Given the description of an element on the screen output the (x, y) to click on. 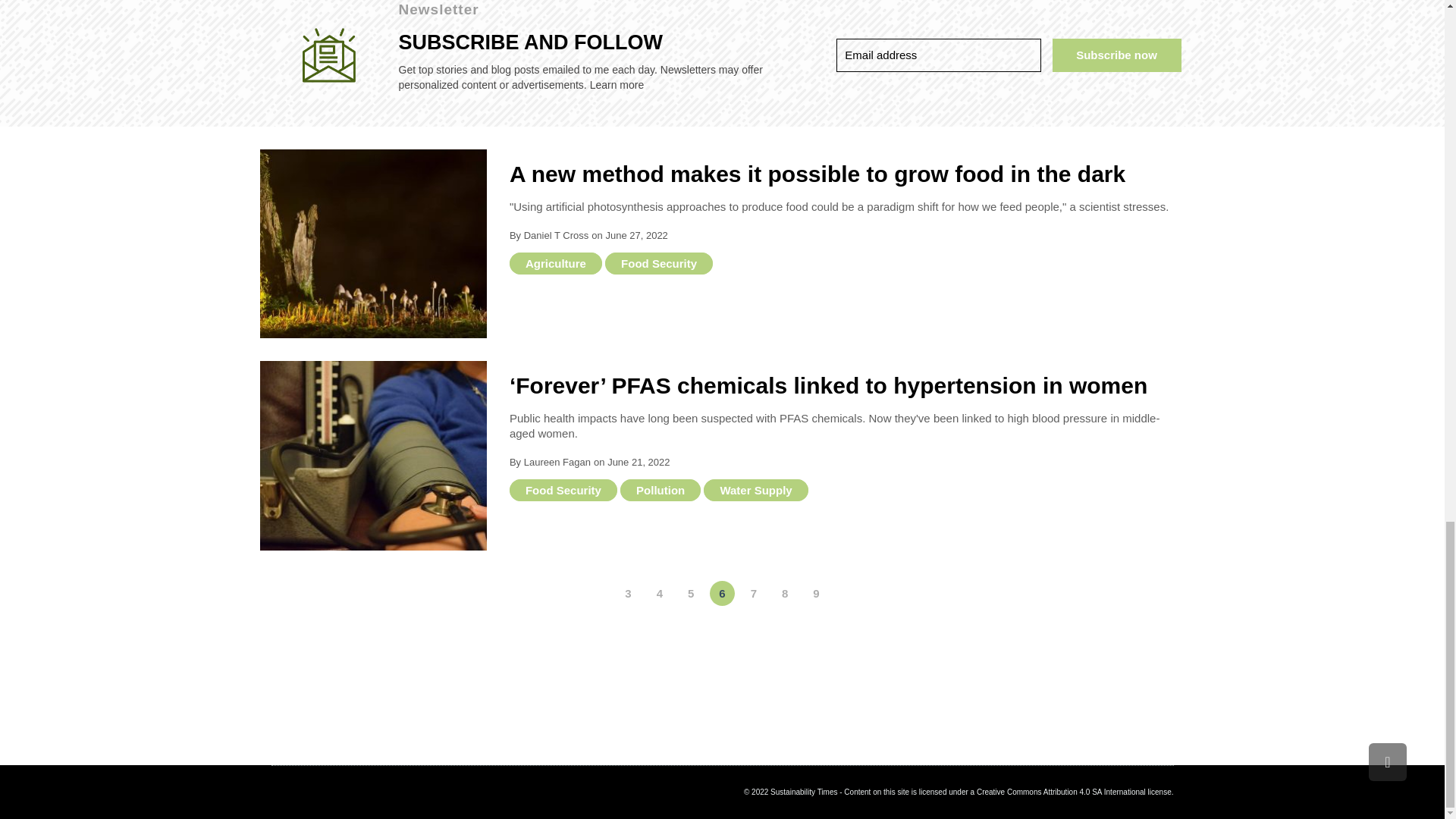
Subscribe now (1116, 55)
